Given the description of an element on the screen output the (x, y) to click on. 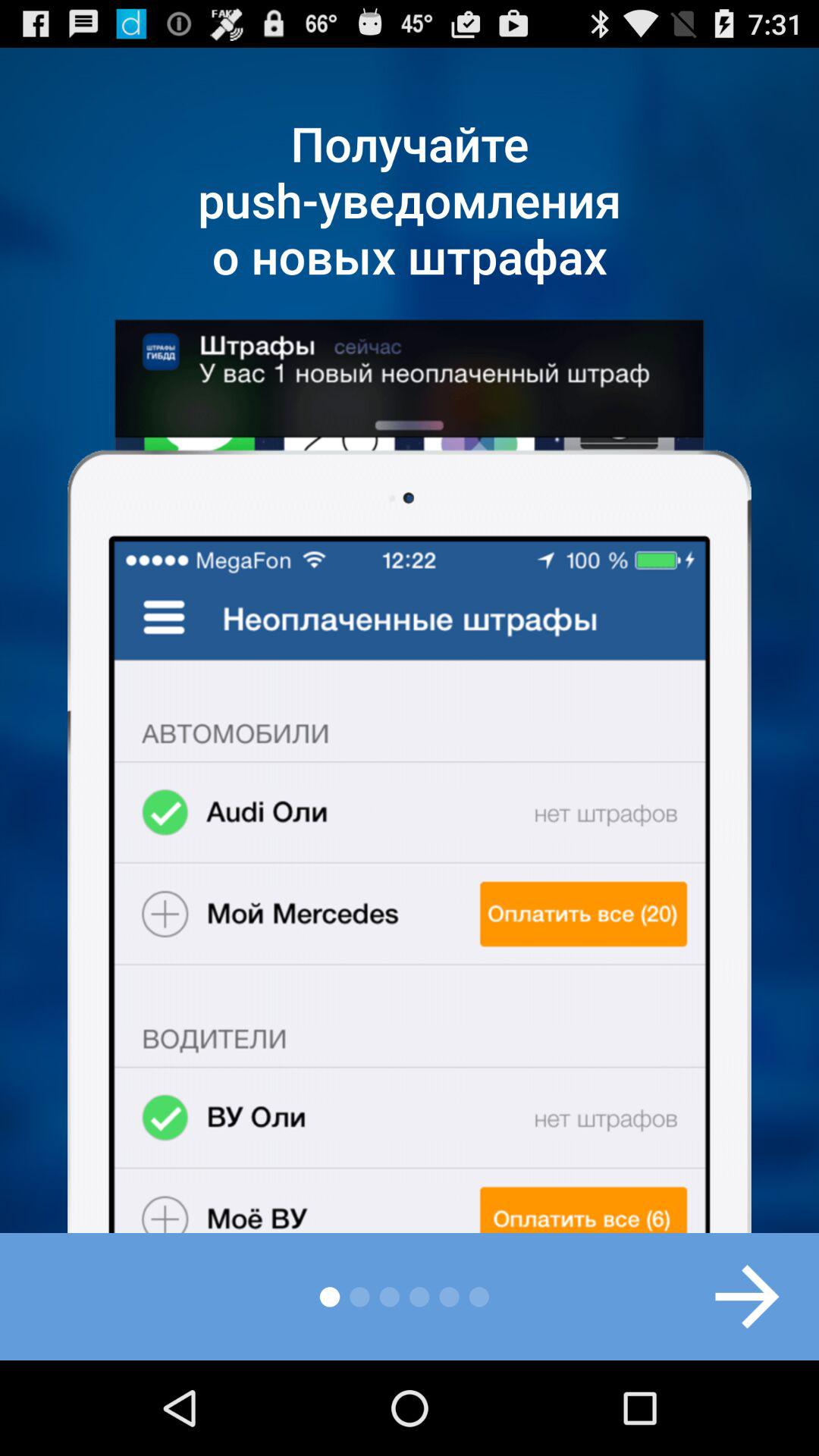
tap item at the bottom right corner (731, 1296)
